Given the description of an element on the screen output the (x, y) to click on. 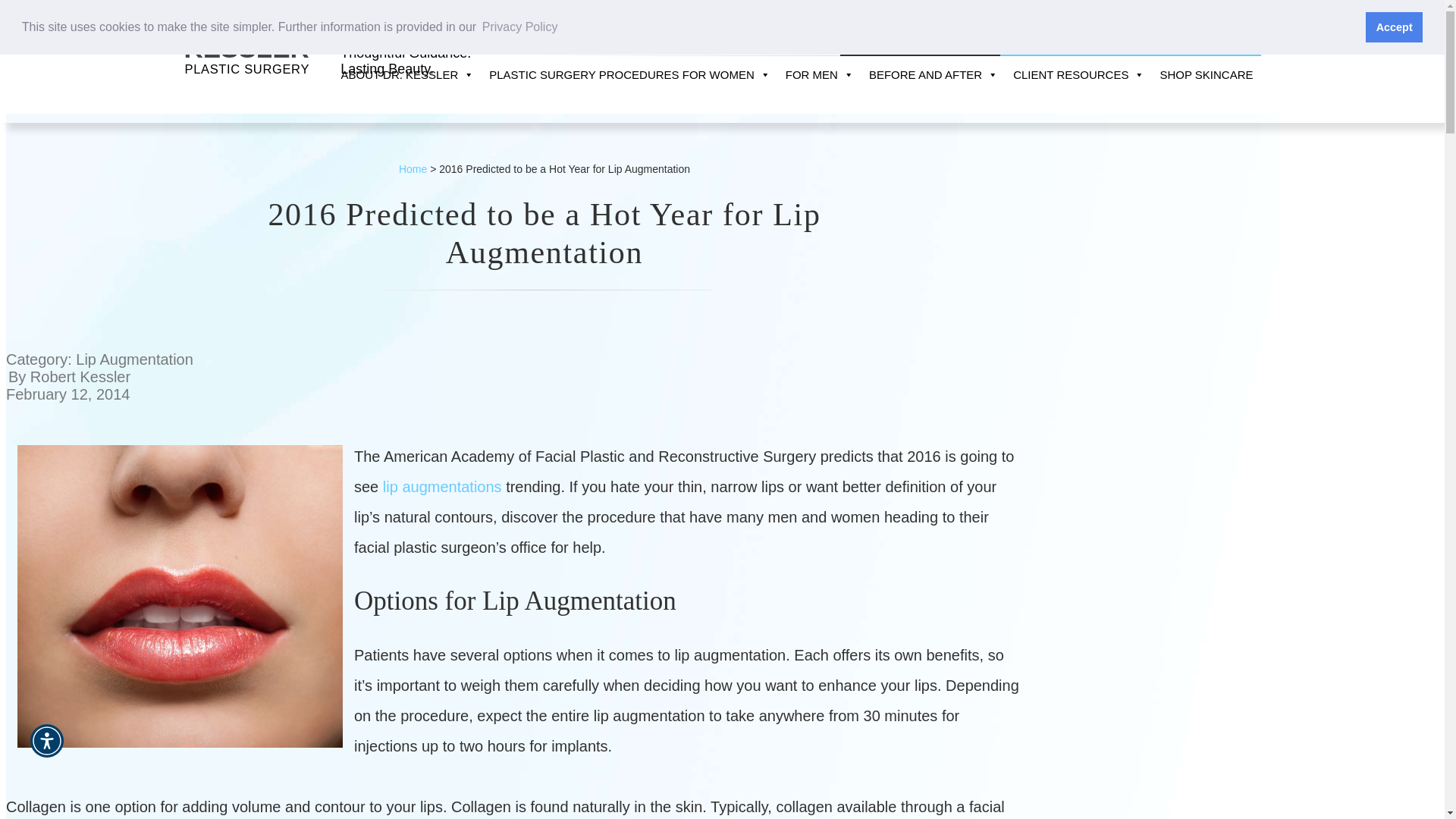
SCHEDULE A CONSULTATION (405, 61)
LOCATION (1130, 43)
Accept (440, 43)
CONTACT (1393, 27)
Privacy Policy (532, 43)
KESSLER (520, 26)
PLASTIC SURGERY PROCEDURES FOR WOMEN (245, 48)
PLASTIC SURGERY (629, 75)
ABOUT DR. KESSLER (247, 69)
Accessibility Menu (407, 75)
lip augmentation (47, 740)
SHOP SKINCARE (442, 486)
